Given the description of an element on the screen output the (x, y) to click on. 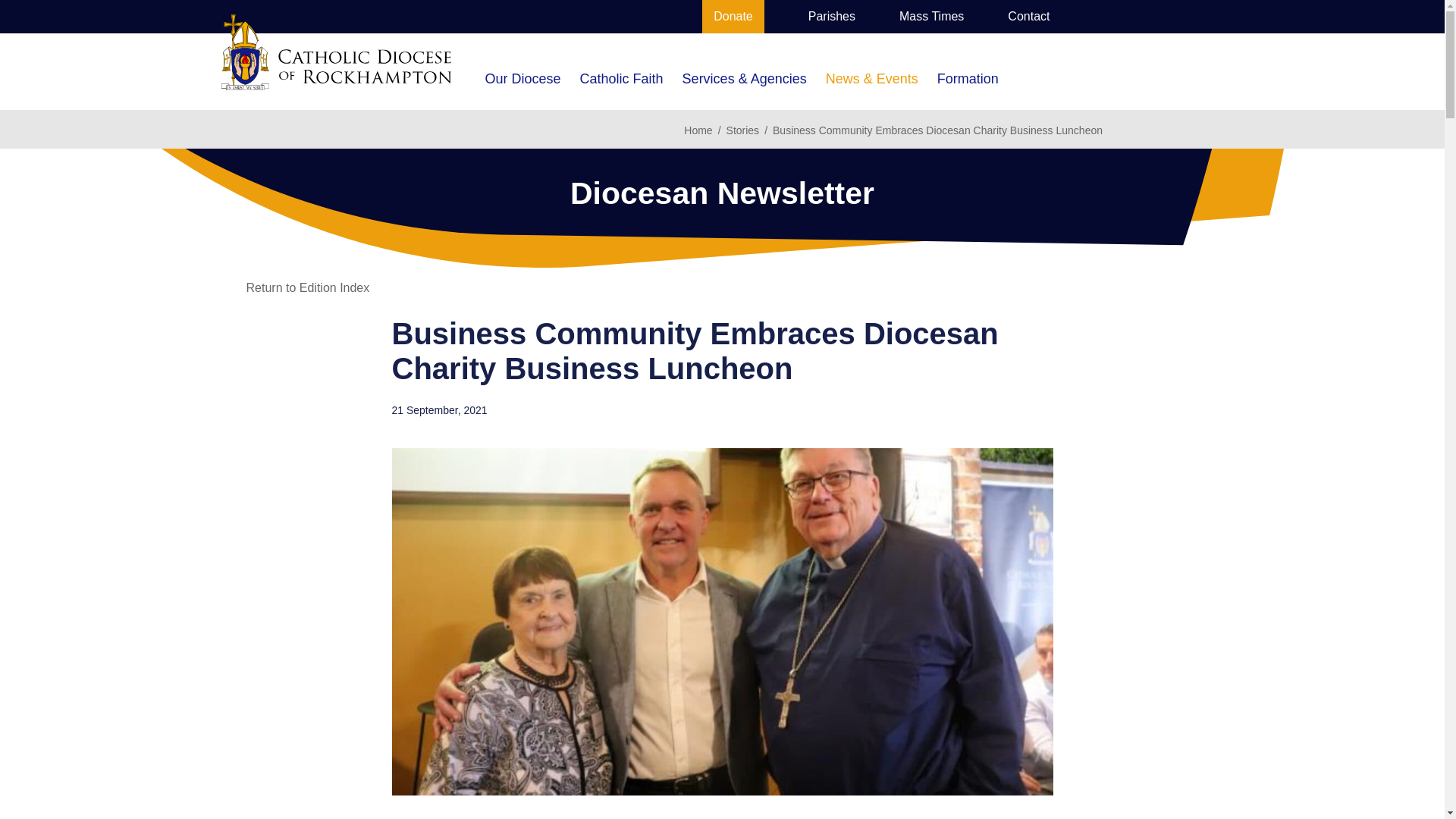
Catholic Diocese of Rockhampton (336, 52)
Go to Stories. (743, 130)
Go to Catholic Diocese of Rockhampton. (697, 130)
